Given the description of an element on the screen output the (x, y) to click on. 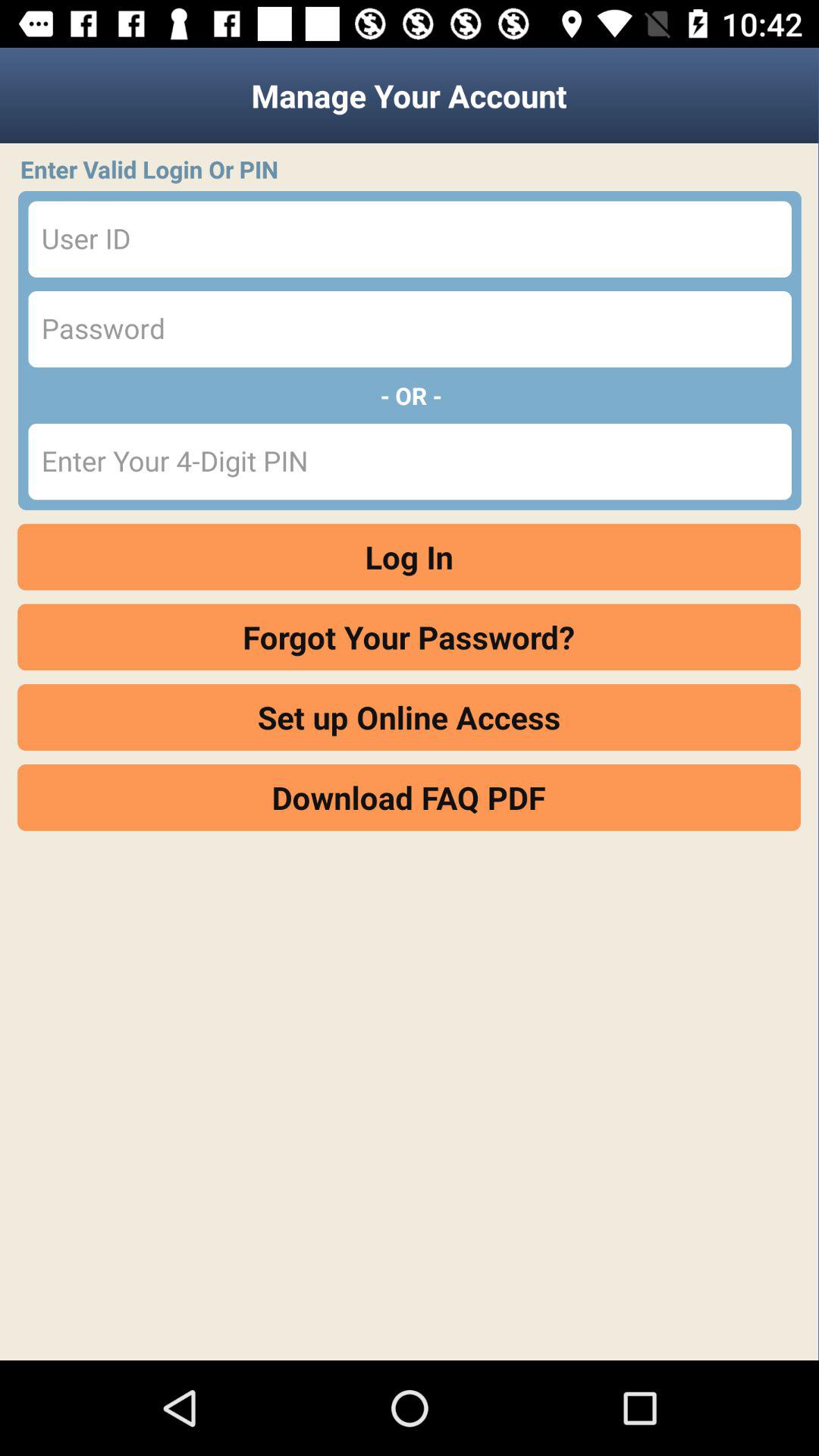
enter user id (409, 239)
